Given the description of an element on the screen output the (x, y) to click on. 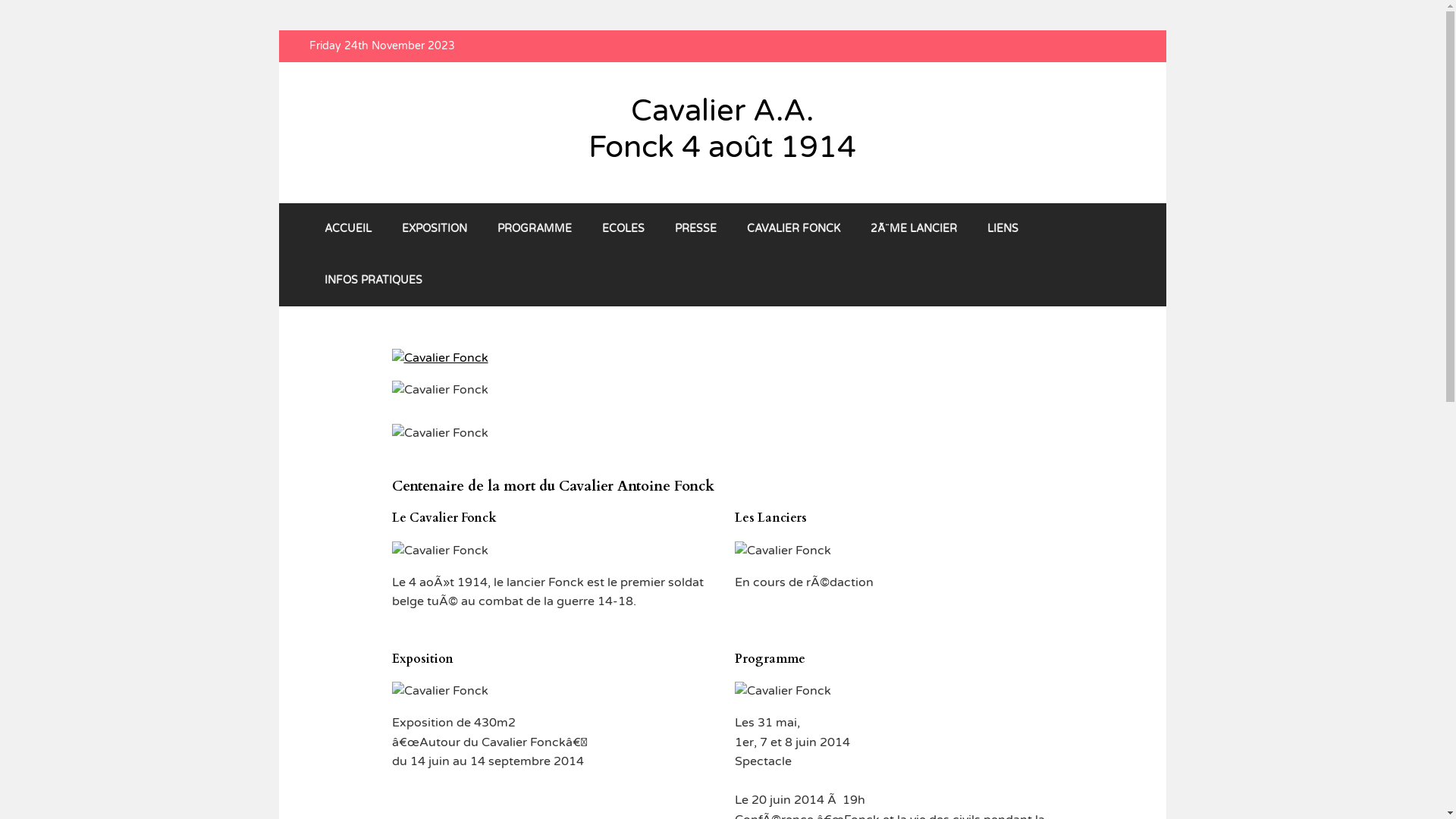
Cavalier Fonck Element type: hover (439, 358)
ACCUEIL Element type: text (347, 228)
LIENS Element type: text (1002, 228)
PRESSE Element type: text (695, 228)
INFOS PRATIQUES Element type: text (373, 280)
Skip to content Element type: text (277, 29)
EXPOSITION Element type: text (434, 228)
PROGRAMME Element type: text (534, 228)
CAVALIER FONCK Element type: text (792, 228)
ECOLES Element type: text (622, 228)
